Given the description of an element on the screen output the (x, y) to click on. 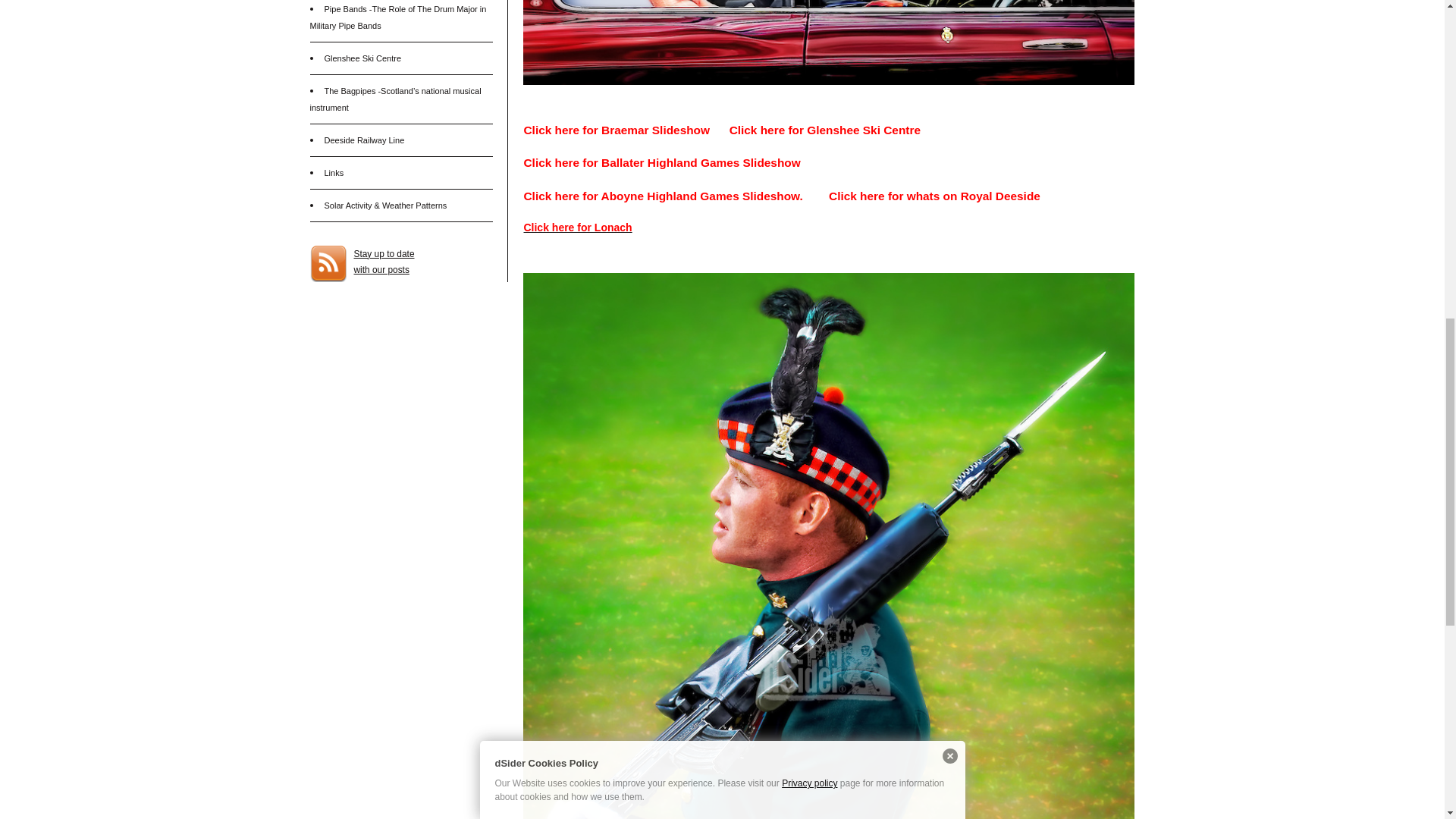
Whats on Royal Deeside (934, 195)
RSS Feeds (383, 261)
Glenshee Ski Centre (362, 58)
Braemar Area (383, 261)
Glenshee Ski Centre (615, 129)
Links (824, 129)
Copyright, all rights reserved (333, 172)
